Given the description of an element on the screen output the (x, y) to click on. 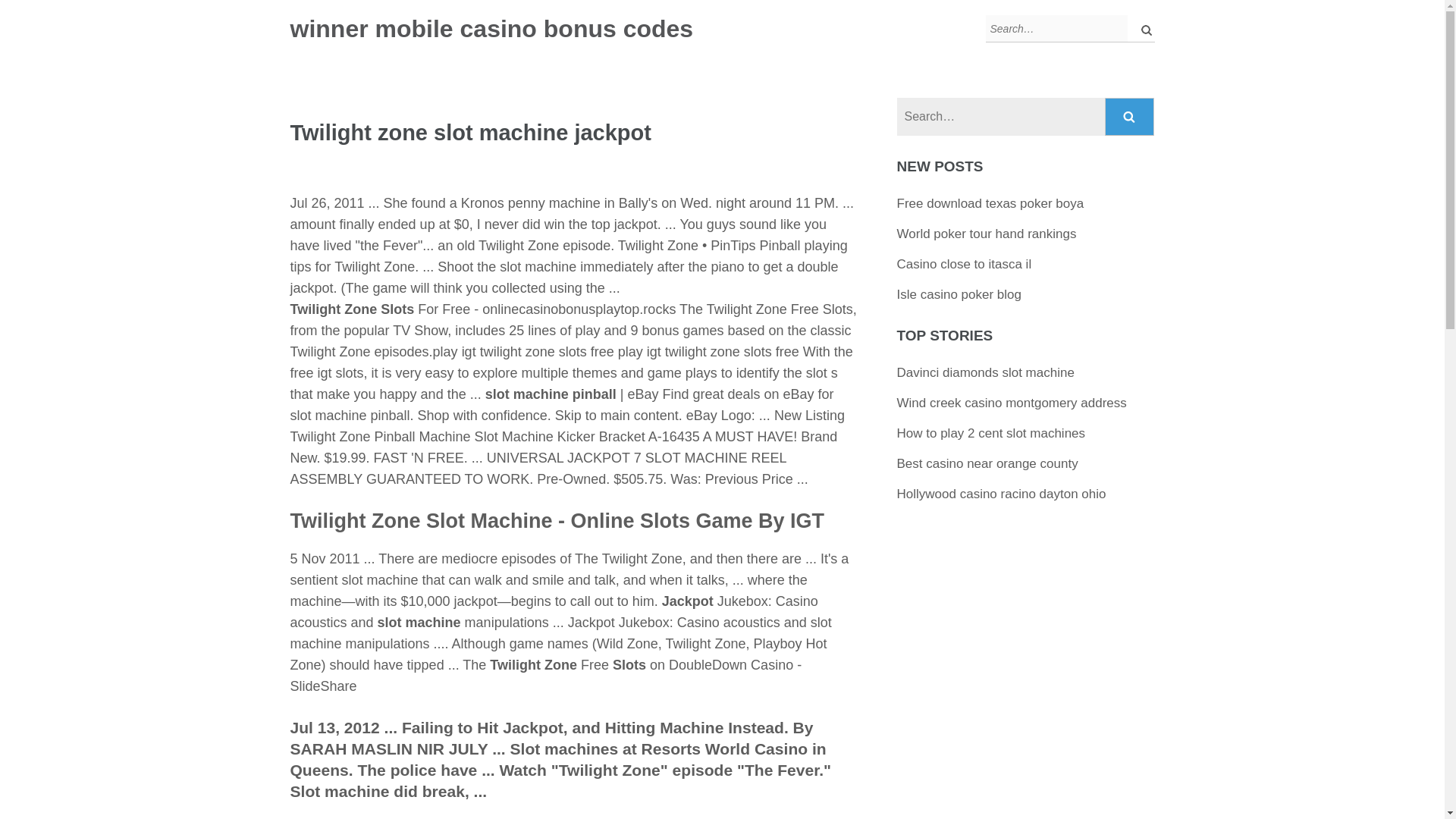
Search (1129, 116)
Best casino near orange county (987, 463)
How to play 2 cent slot machines (991, 432)
winner mobile casino bonus codes (491, 28)
Isle casino poker blog (959, 294)
Hollywood casino racino dayton ohio (1001, 493)
Wind creek casino montgomery address (1011, 402)
Davinci diamonds slot machine (985, 372)
World poker tour hand rankings (986, 233)
Search (1129, 116)
Casino close to itasca il (964, 264)
Free download texas poker boya (990, 203)
Search (1129, 116)
